Given the description of an element on the screen output the (x, y) to click on. 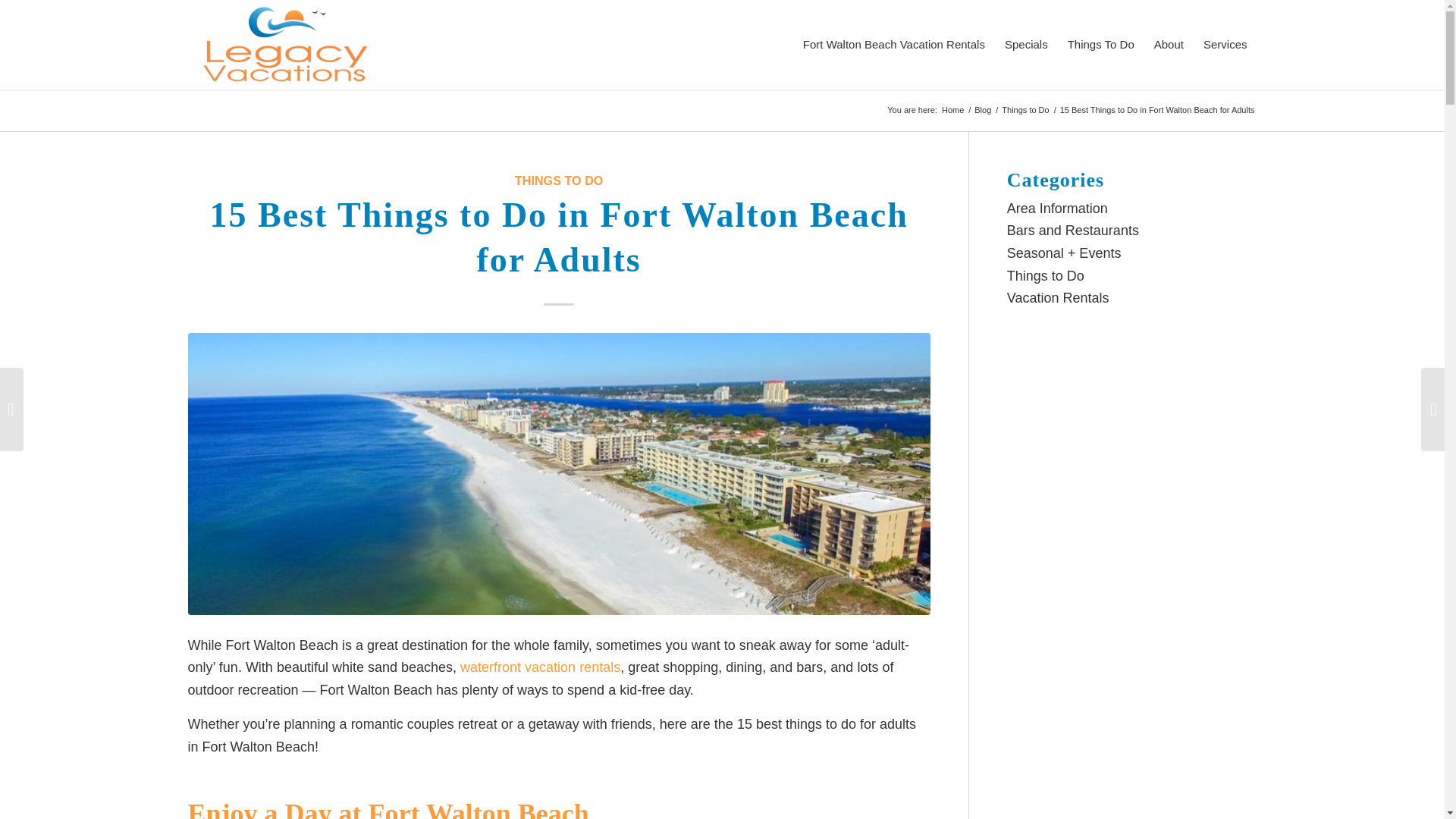
Legacy Vacations Logo (284, 44)
Things to Do (1024, 110)
Fort Walton Beach Vacation Rentals (893, 44)
Legacy Vacations (952, 110)
waterfront vacation rentals (540, 667)
THINGS TO DO (559, 180)
Blog (982, 110)
Things To Do (1101, 44)
Blog (982, 110)
